Given the description of an element on the screen output the (x, y) to click on. 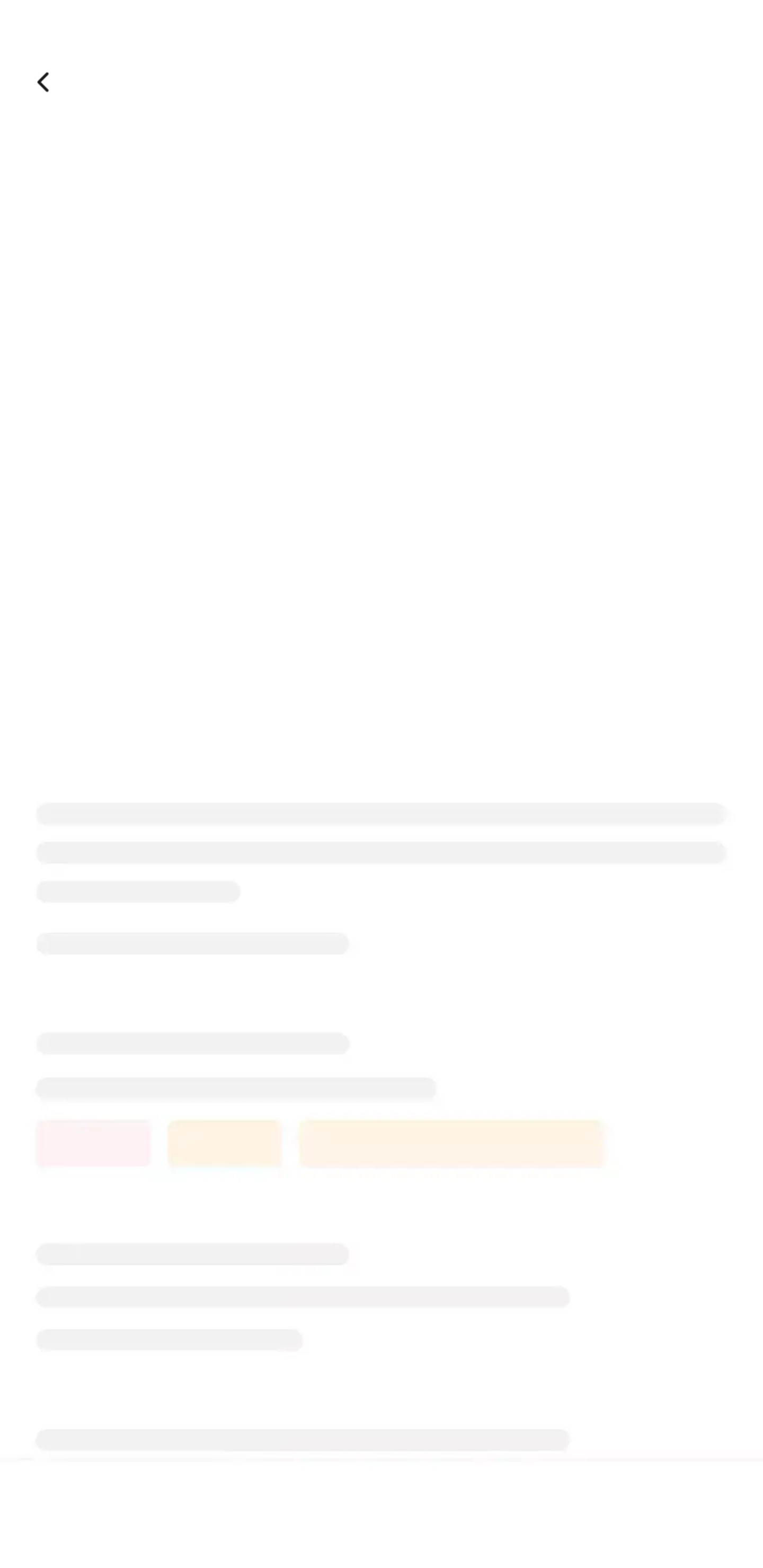
Navigate up (44, 82)
